Given the description of an element on the screen output the (x, y) to click on. 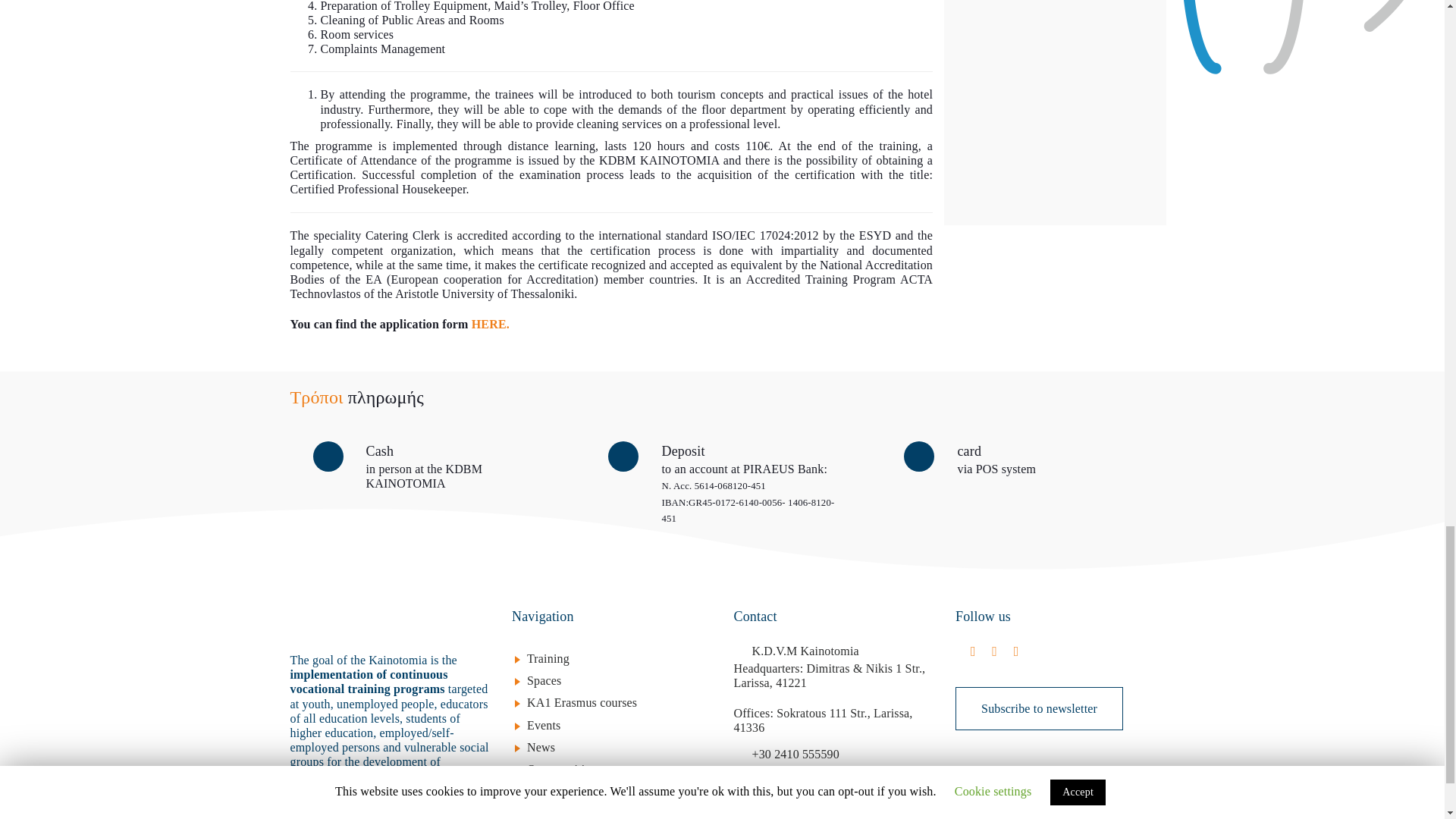
KA1 Erasmus courses (619, 702)
HERE. (488, 323)
Spaces (619, 680)
Events (619, 725)
Training (619, 658)
